Given the description of an element on the screen output the (x, y) to click on. 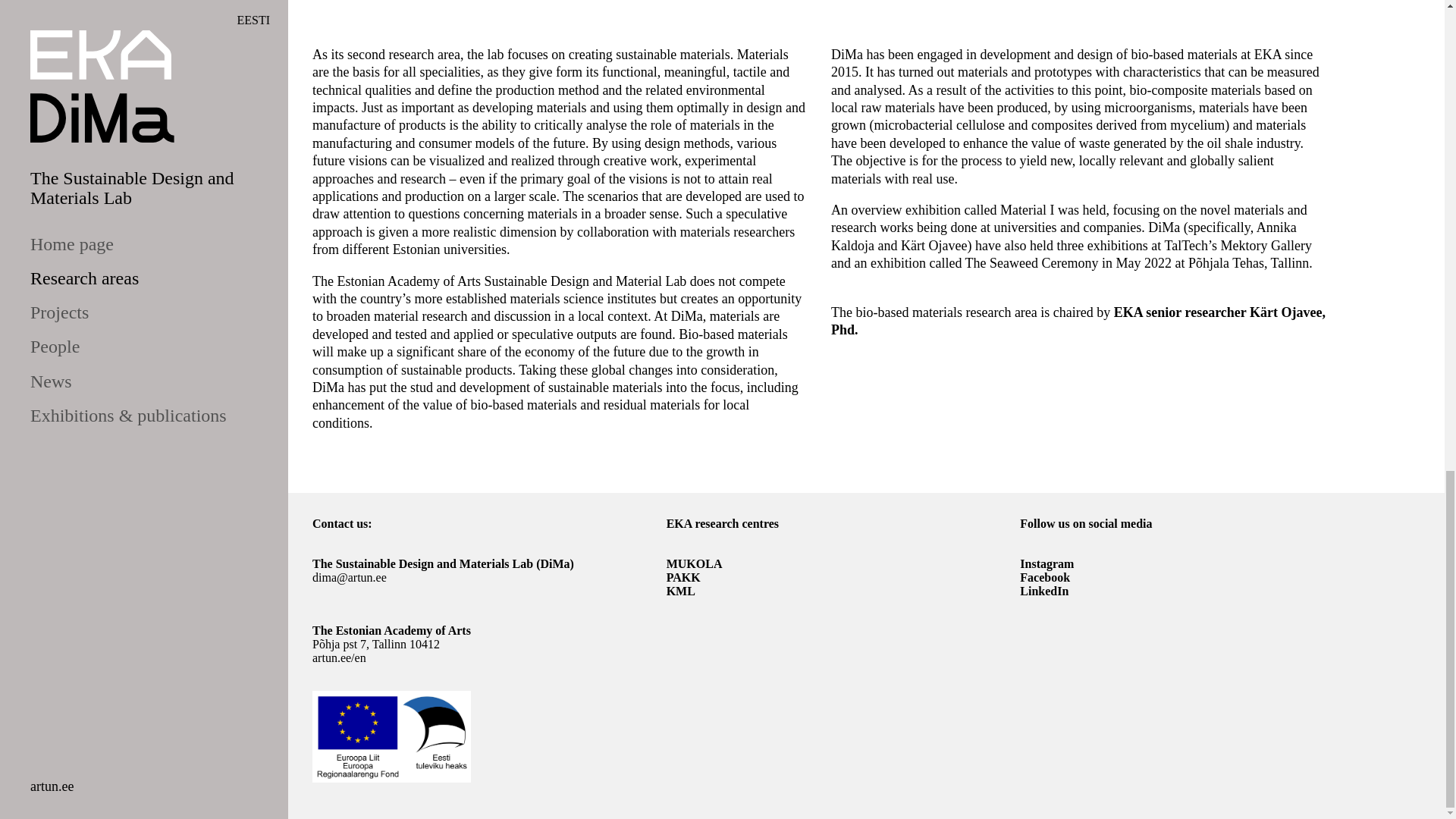
LinkedIn (1044, 590)
Instagram (1047, 563)
PAKK (683, 576)
Facebook (1045, 576)
